Given the description of an element on the screen output the (x, y) to click on. 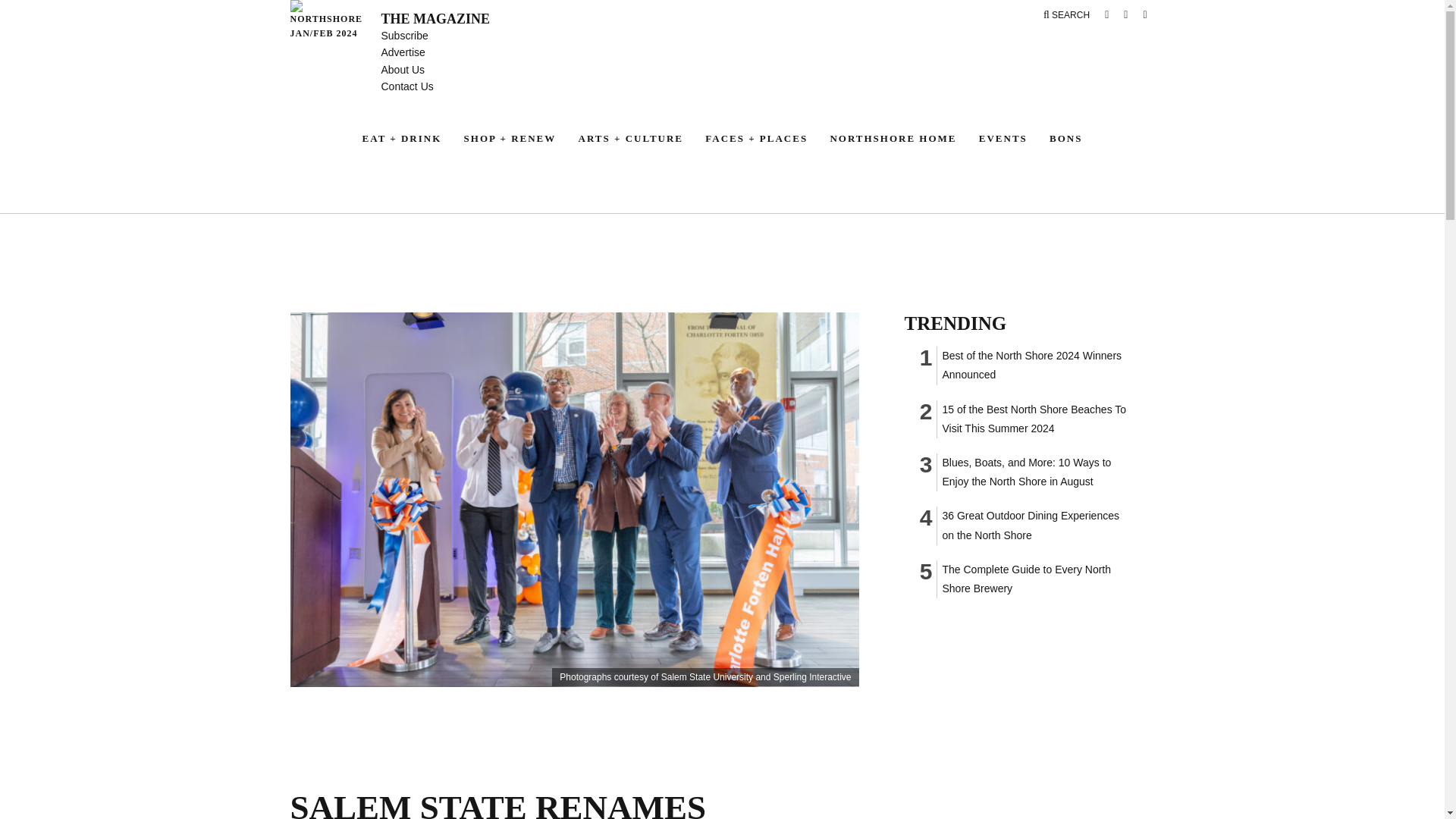
Search (1066, 15)
SEARCH (1066, 15)
NORTHSHORE HOME (893, 138)
About Us (402, 69)
Subscribe (404, 35)
EVENTS (1002, 138)
Advertise (402, 51)
BONS (1065, 138)
Contact Us (406, 86)
